Given the description of an element on the screen output the (x, y) to click on. 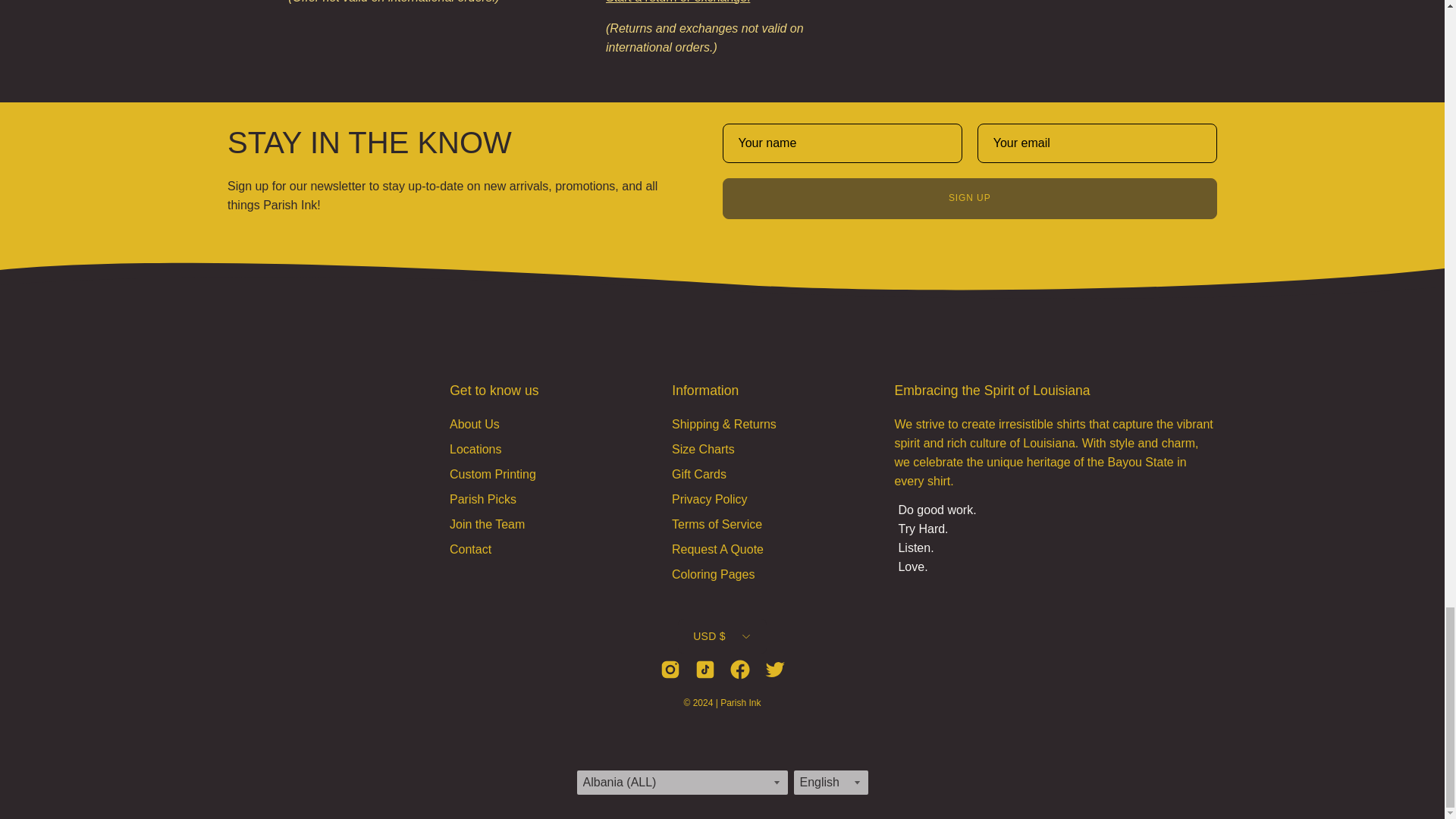
View Parish Ink on Tiktok (704, 669)
View Parish Ink on Instagram (669, 669)
View Parish Ink on Facebook (739, 669)
View Parish Ink on Twitter (774, 669)
